Given the description of an element on the screen output the (x, y) to click on. 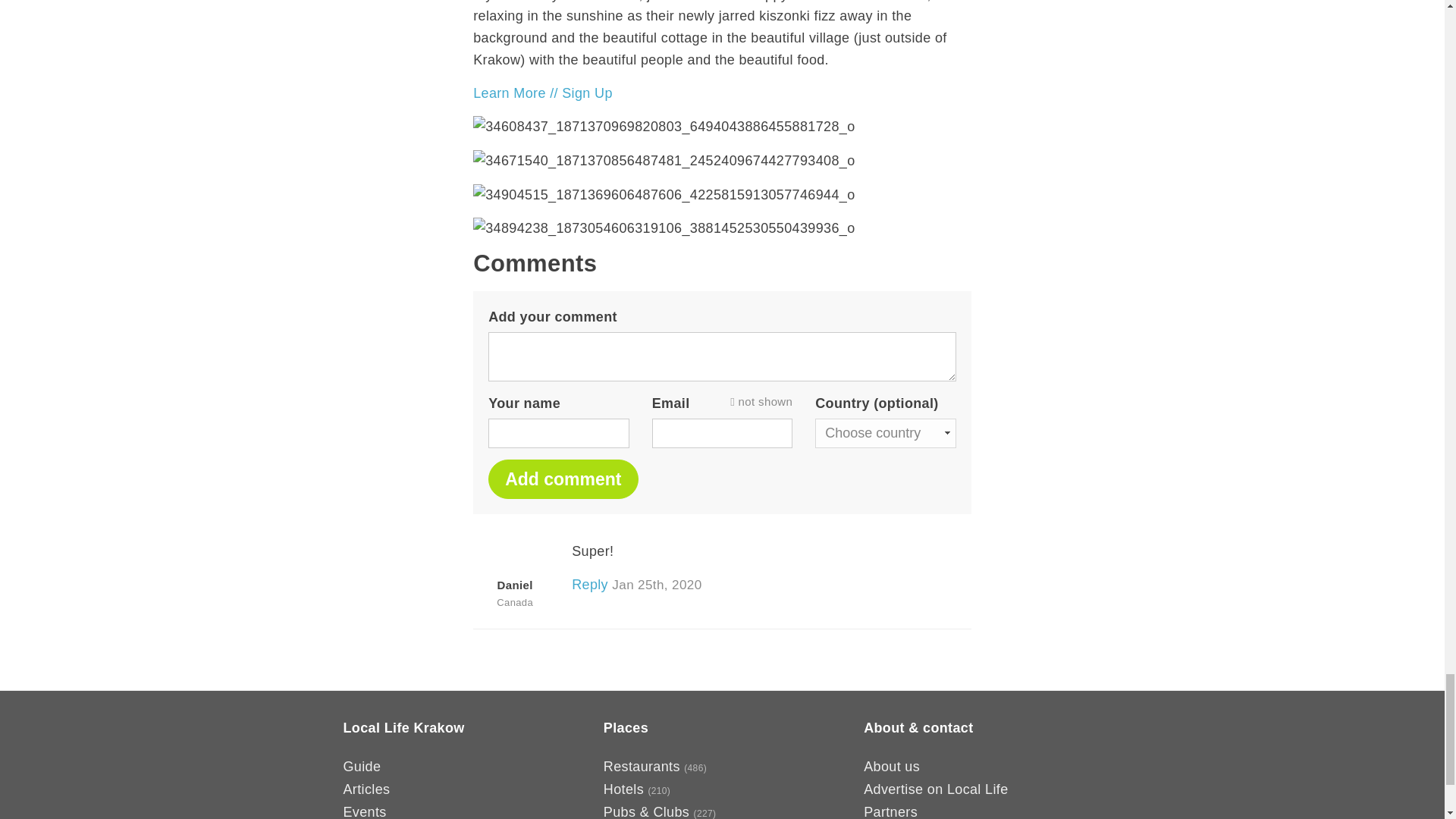
Events (363, 811)
Local Life Krakow (403, 727)
Places (625, 727)
Add comment (562, 479)
Reply (590, 584)
Add comment (562, 479)
Restaurants (641, 766)
Articles (366, 789)
Hotels (623, 789)
Guide (361, 766)
